Given the description of an element on the screen output the (x, y) to click on. 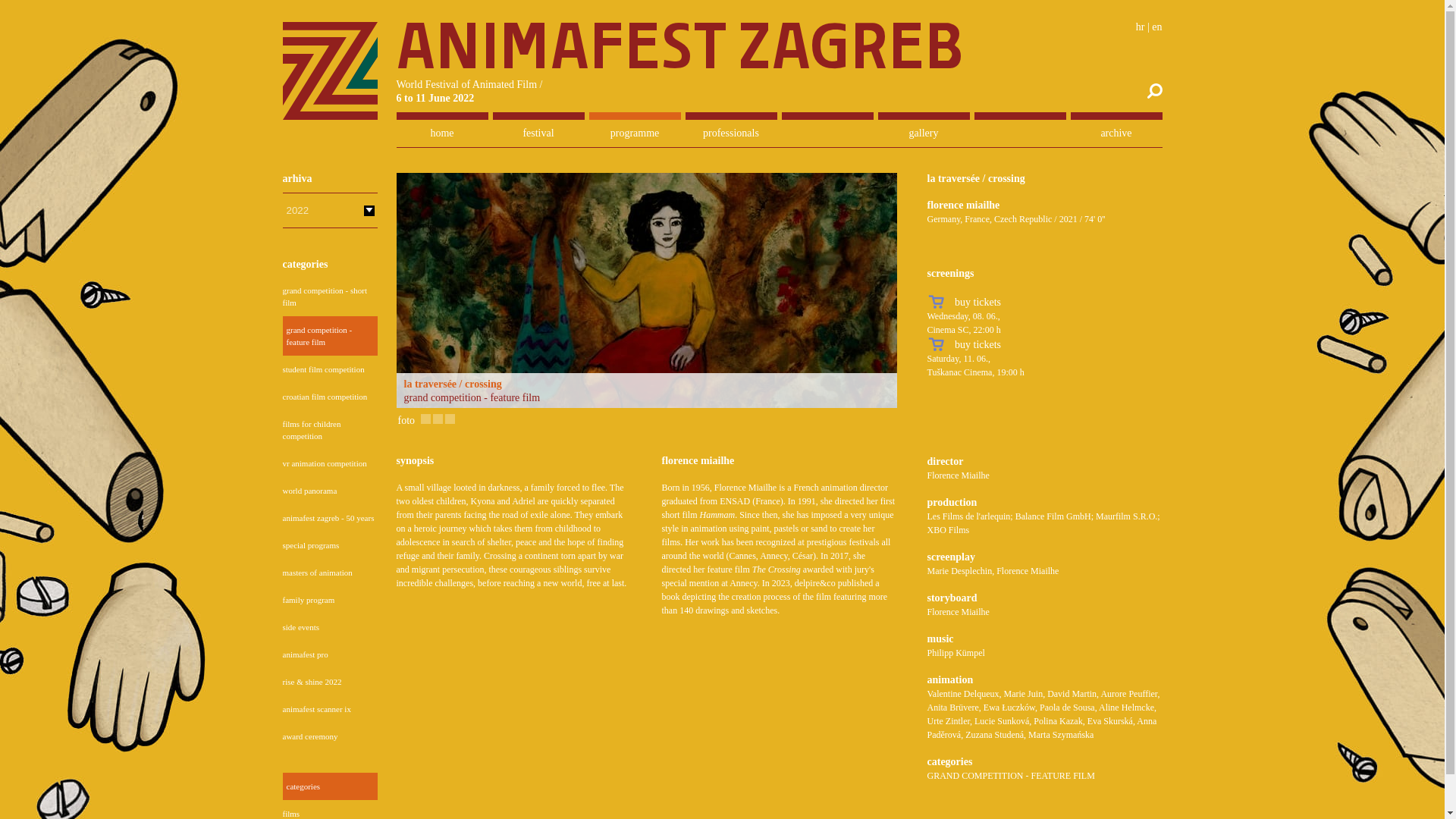
archive (1115, 133)
professionals (731, 133)
festival (539, 133)
gallery (923, 133)
home (441, 133)
programme (633, 133)
